Given the description of an element on the screen output the (x, y) to click on. 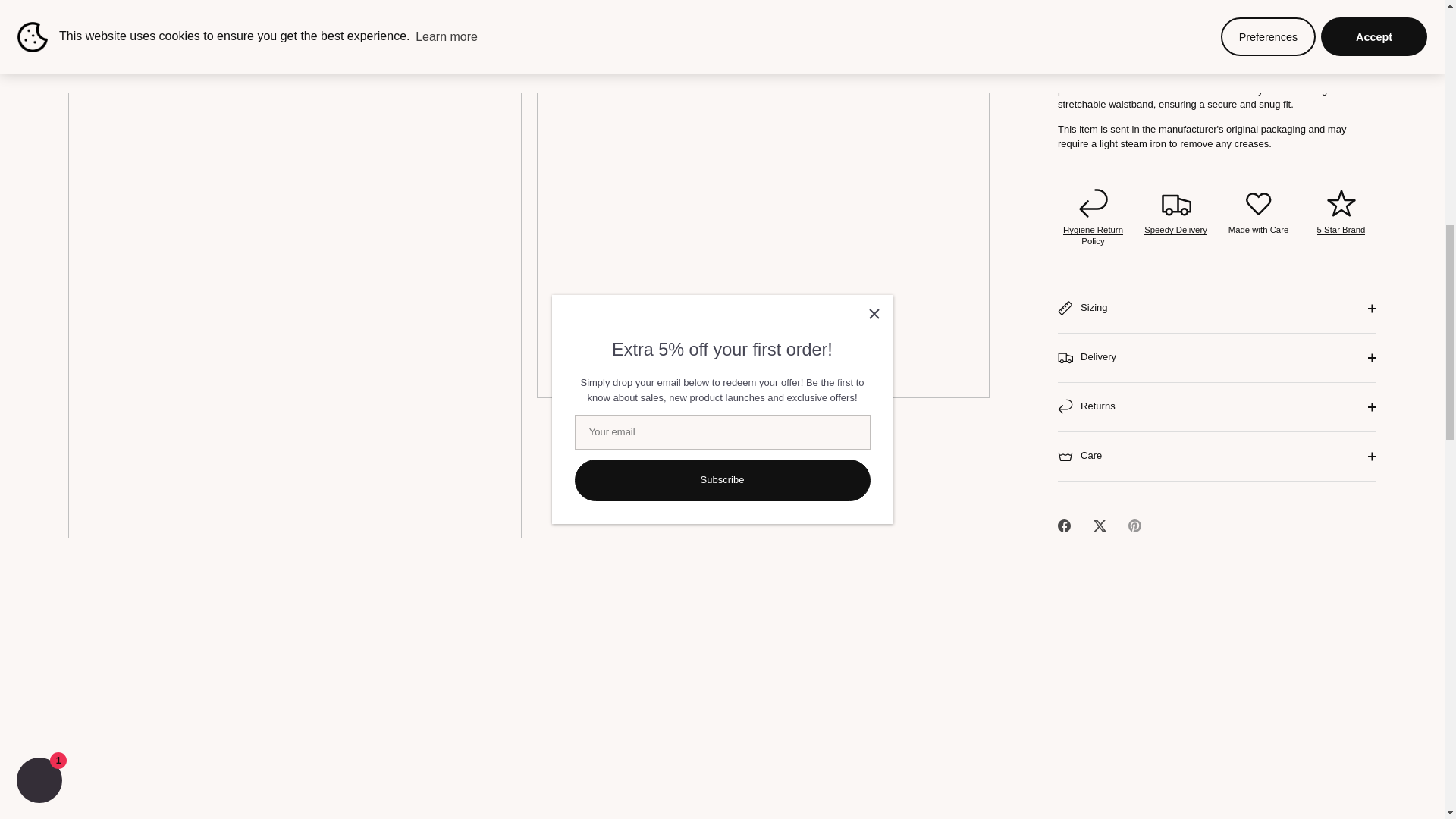
Delivery (1175, 21)
About Us (1341, 21)
Returns (1092, 26)
